Given the description of an element on the screen output the (x, y) to click on. 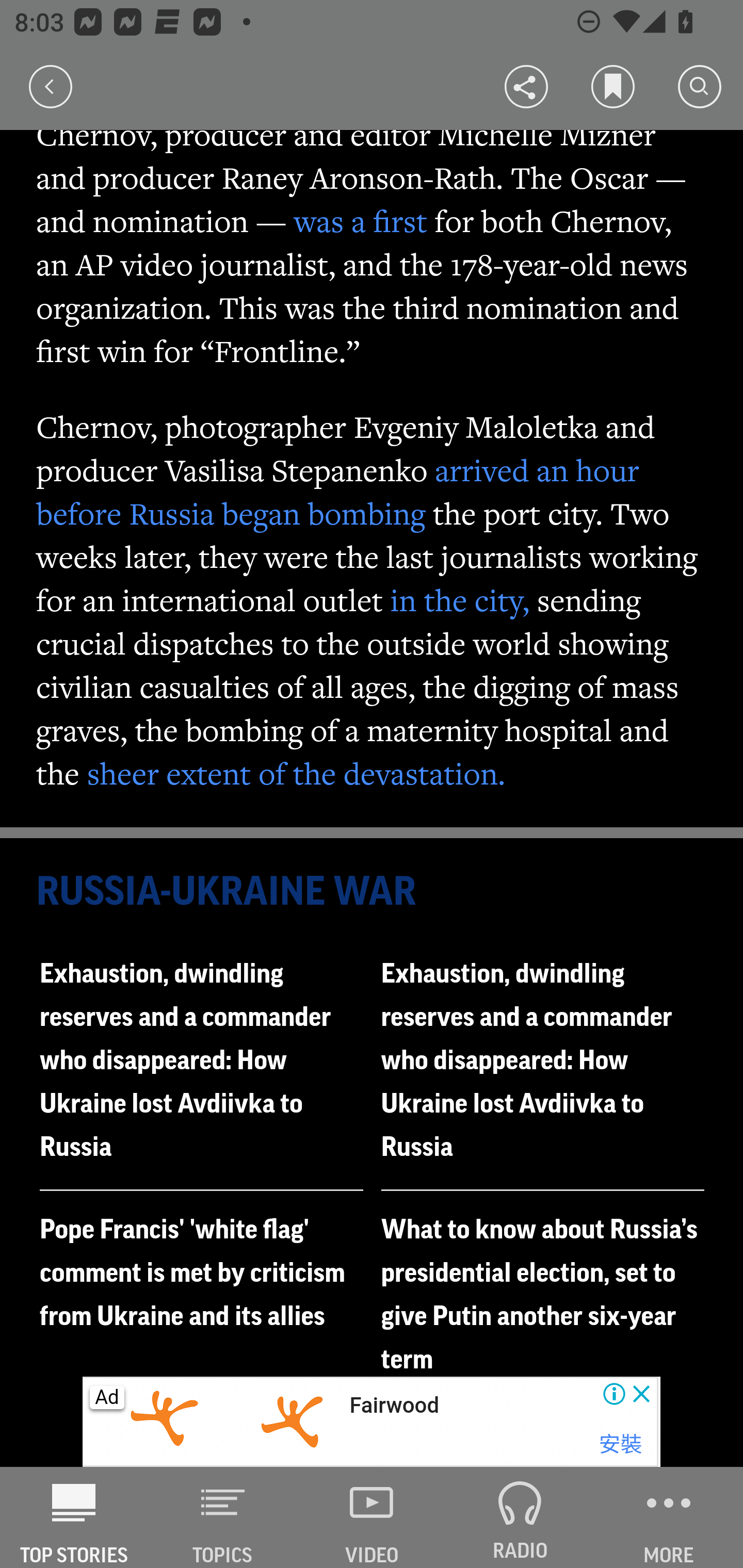
was a first (359, 221)
arrived an hour before Russia began bombing (338, 491)
in the city, (460, 599)
sheer extent of the devastation. (295, 772)
RUSSIA-UKRAINE WAR (372, 891)
安裝 (620, 1444)
AP News TOP STORIES (74, 1517)
TOPICS (222, 1517)
VIDEO (371, 1517)
RADIO (519, 1517)
MORE (668, 1517)
